Given the description of an element on the screen output the (x, y) to click on. 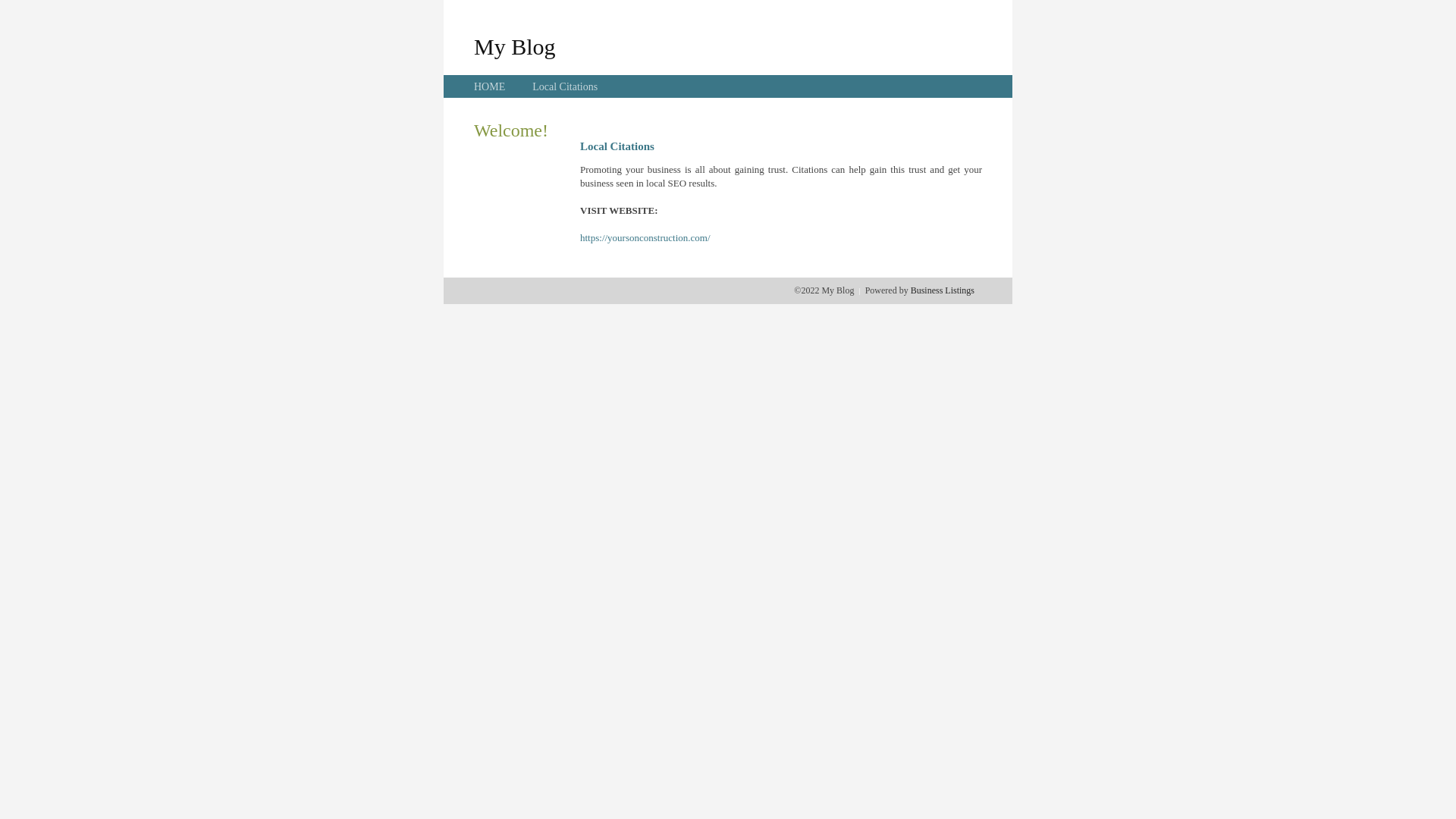
HOME Element type: text (489, 86)
Local Citations Element type: text (564, 86)
My Blog Element type: text (514, 46)
Business Listings Element type: text (942, 290)
https://yoursonconstruction.com/ Element type: text (645, 237)
